Given the description of an element on the screen output the (x, y) to click on. 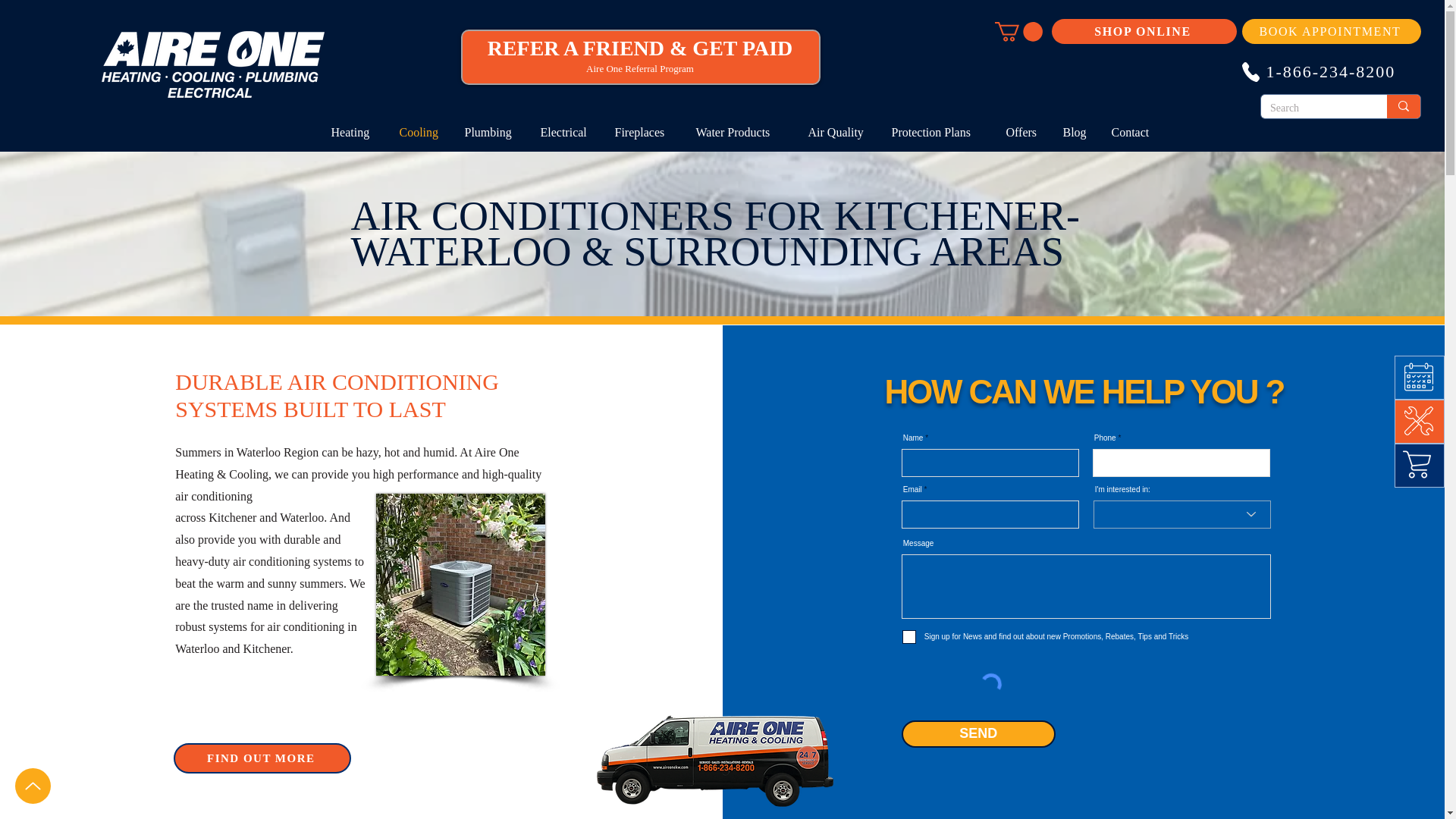
SHOP ONLINE (1143, 31)
Fireplaces (644, 132)
BOOK APPOINTMENT (1331, 31)
Plumbing (490, 132)
Heating (354, 132)
Water Products (740, 132)
 1-866-234-8200 (1327, 71)
Cooling (420, 132)
Electrical (566, 132)
Carrier AC Installation 524 (459, 584)
